Given the description of an element on the screen output the (x, y) to click on. 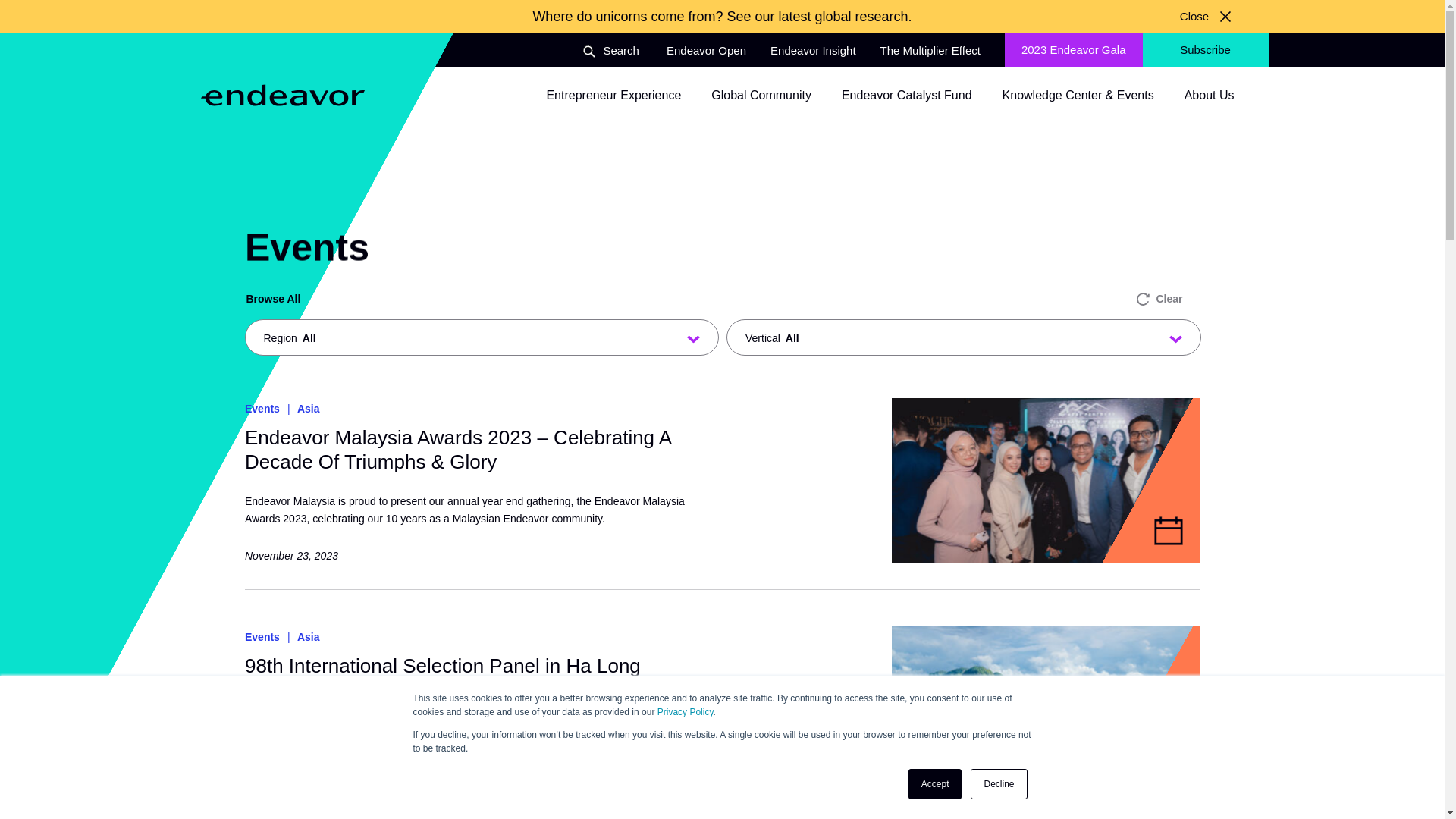
2023 Endeavor Gala (1073, 49)
Endeavor Insight (813, 50)
Privacy Policy (685, 711)
Accept (935, 784)
Decline (998, 784)
Subscribe (1204, 49)
Close (1204, 16)
The Multiplier Effect (929, 50)
Endeavor Open (705, 50)
Search (610, 51)
